Given the description of an element on the screen output the (x, y) to click on. 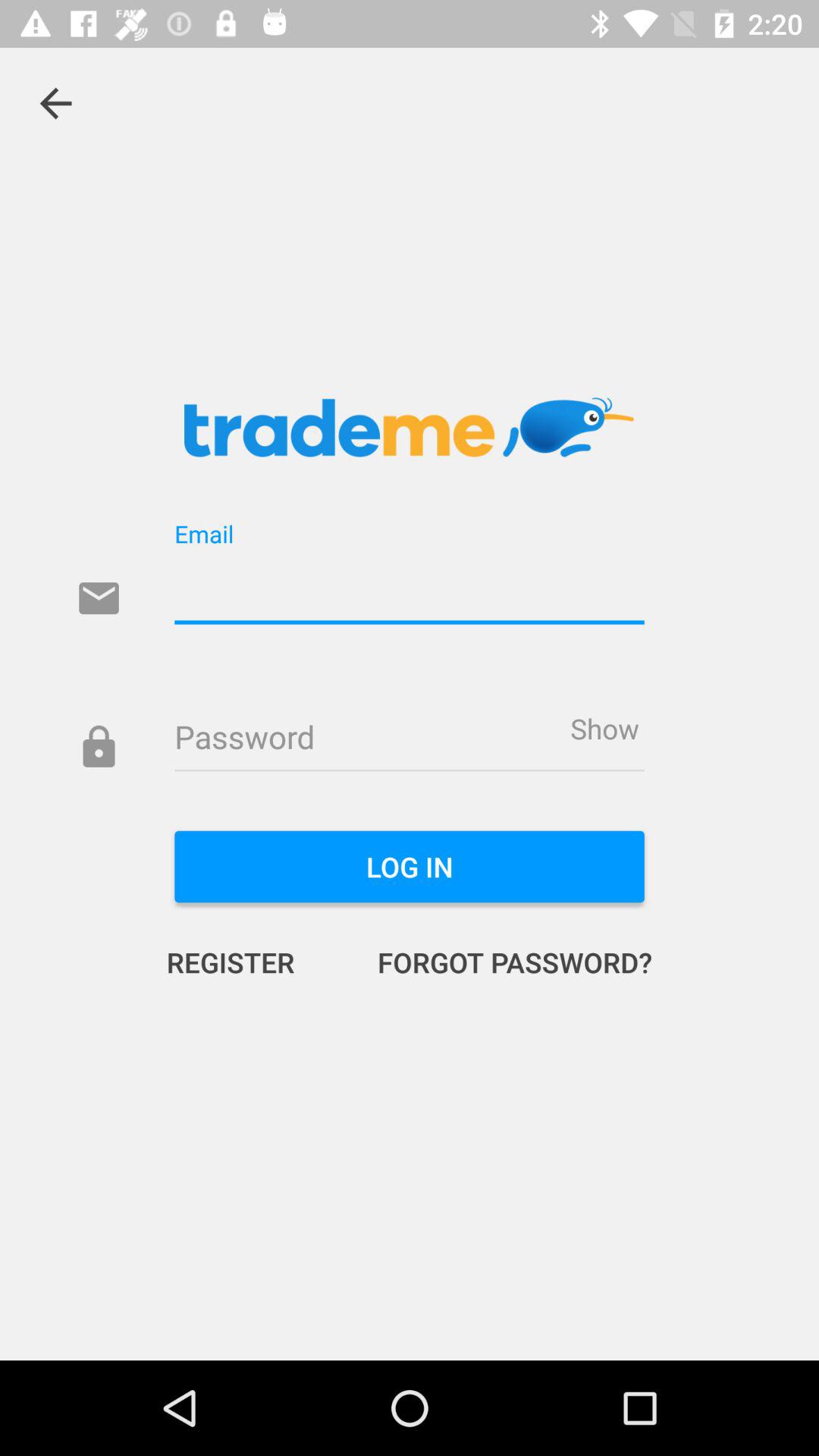
enter your email (409, 590)
